Given the description of an element on the screen output the (x, y) to click on. 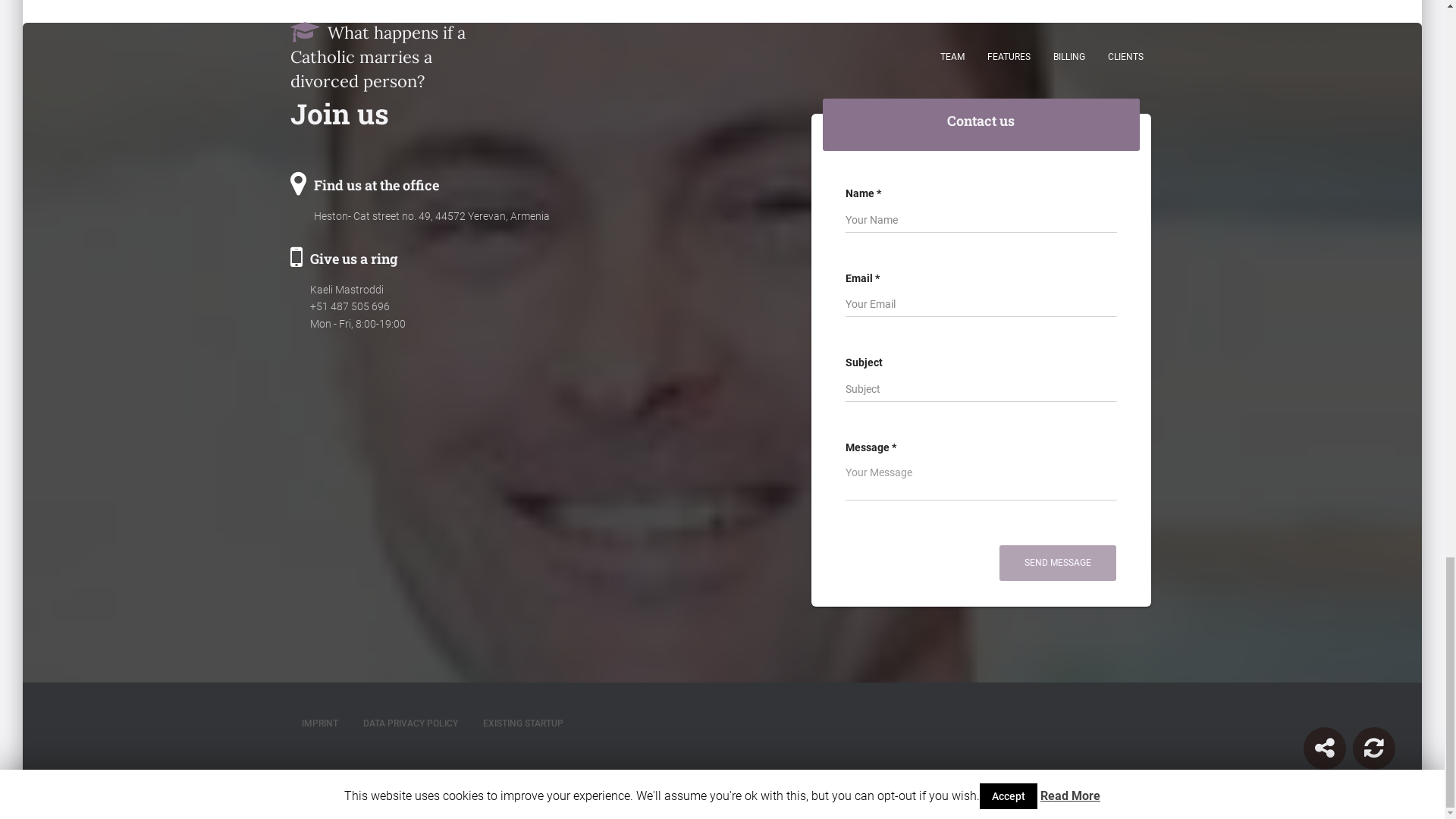
EXISTING STARTUP (523, 723)
SEND MESSAGE (1057, 562)
IMPRINT (319, 723)
DATA PRIVACY POLICY (410, 723)
